Given the description of an element on the screen output the (x, y) to click on. 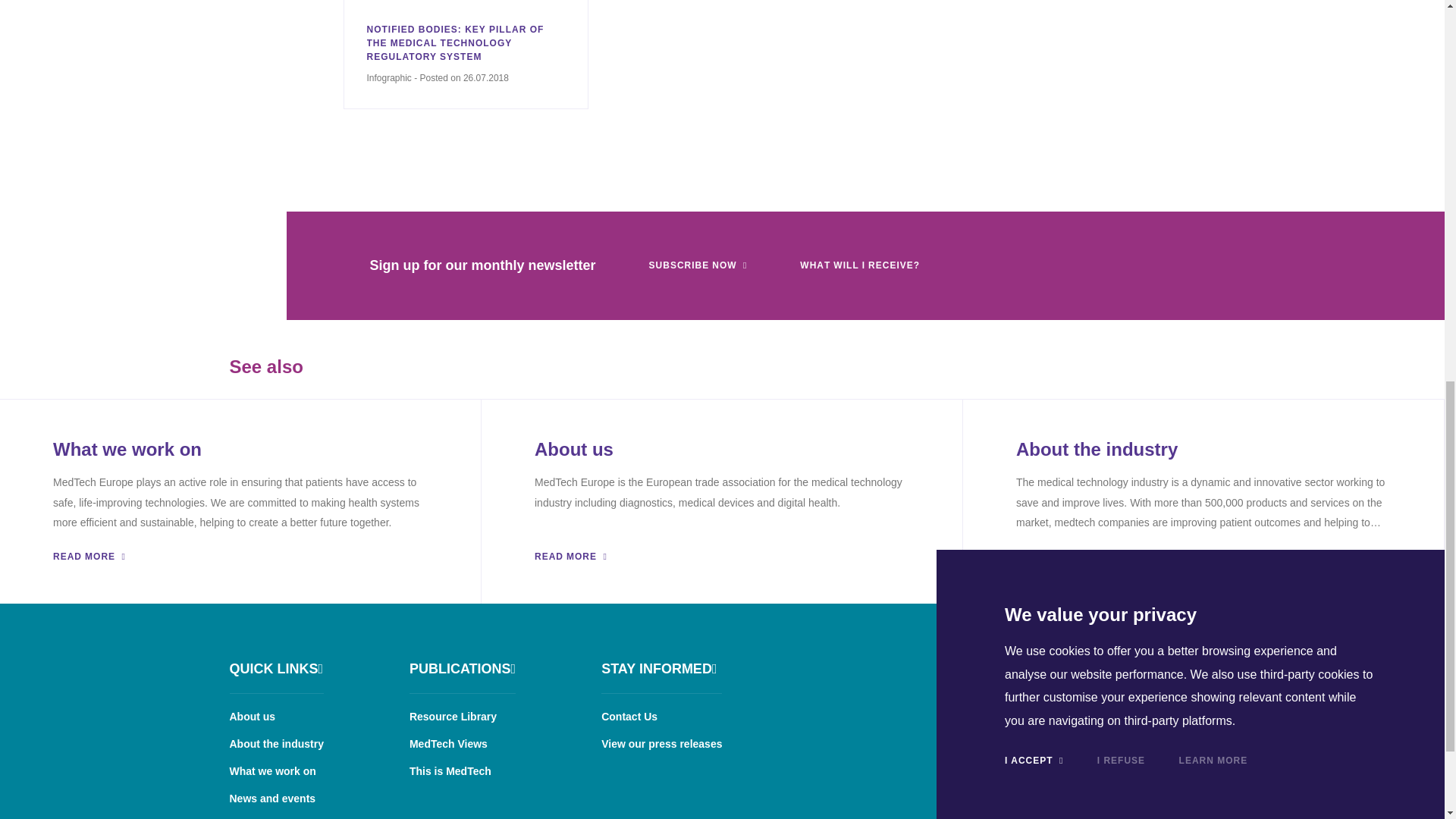
Linkedin (1114, 666)
Youtube (1197, 666)
Twitter (1155, 666)
Facebook (1072, 666)
